Given the description of an element on the screen output the (x, y) to click on. 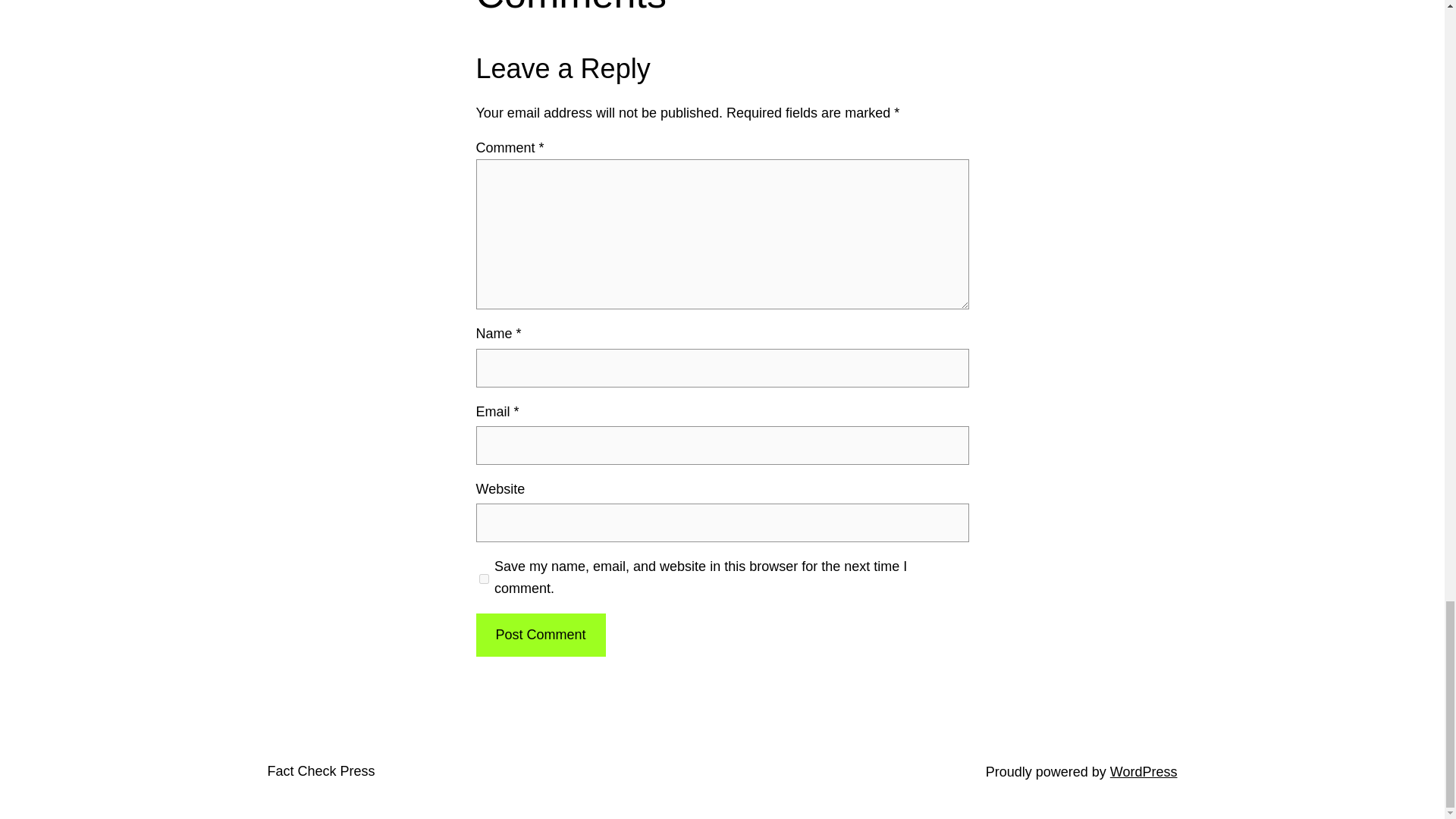
Post Comment (540, 634)
Fact Check Press (320, 770)
Post Comment (540, 634)
WordPress (1143, 771)
